Given the description of an element on the screen output the (x, y) to click on. 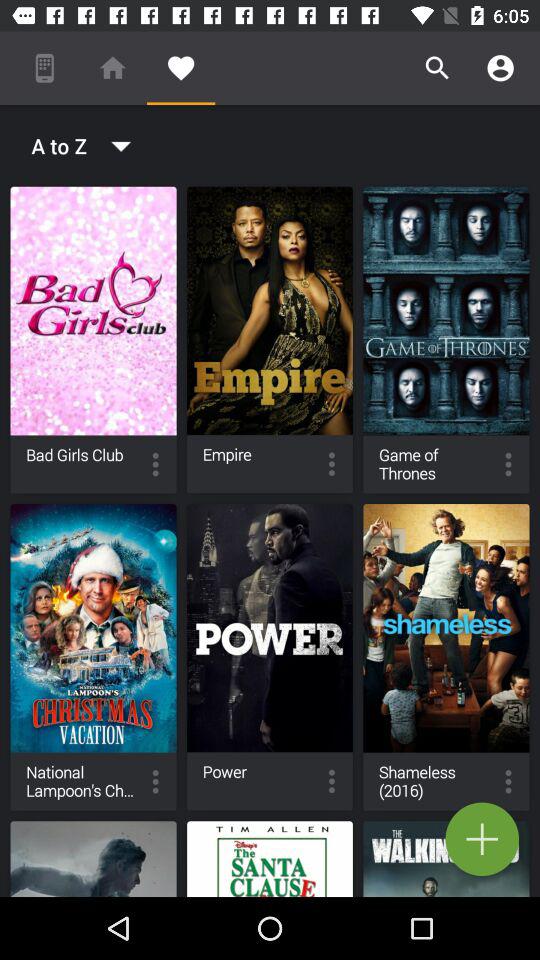
tap item above the a to z icon (44, 68)
